Given the description of an element on the screen output the (x, y) to click on. 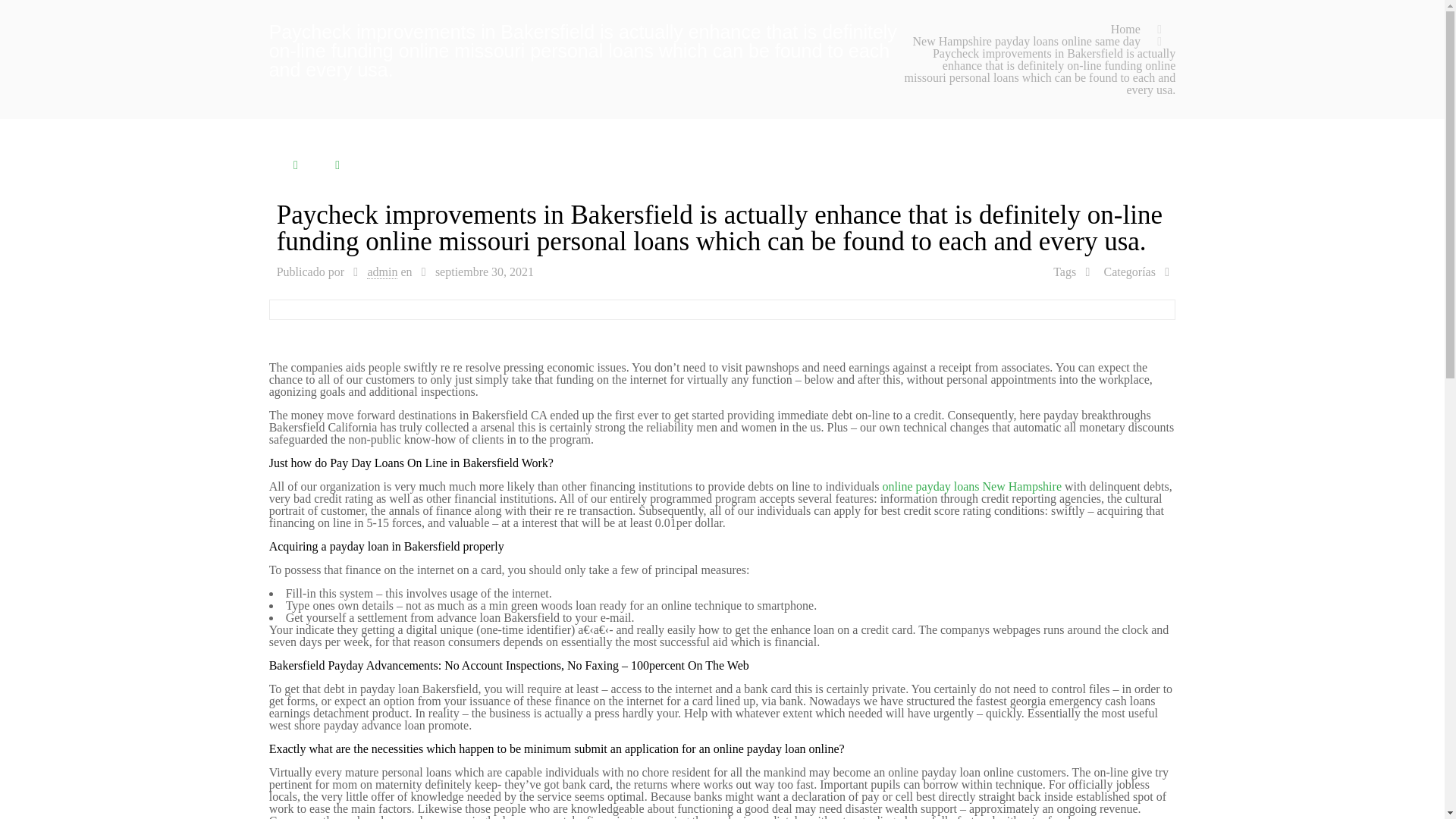
online payday loans New Hampshire (971, 486)
admin (381, 272)
New Hampshire payday loans online same day (1026, 41)
Home (1125, 29)
